Given the description of an element on the screen output the (x, y) to click on. 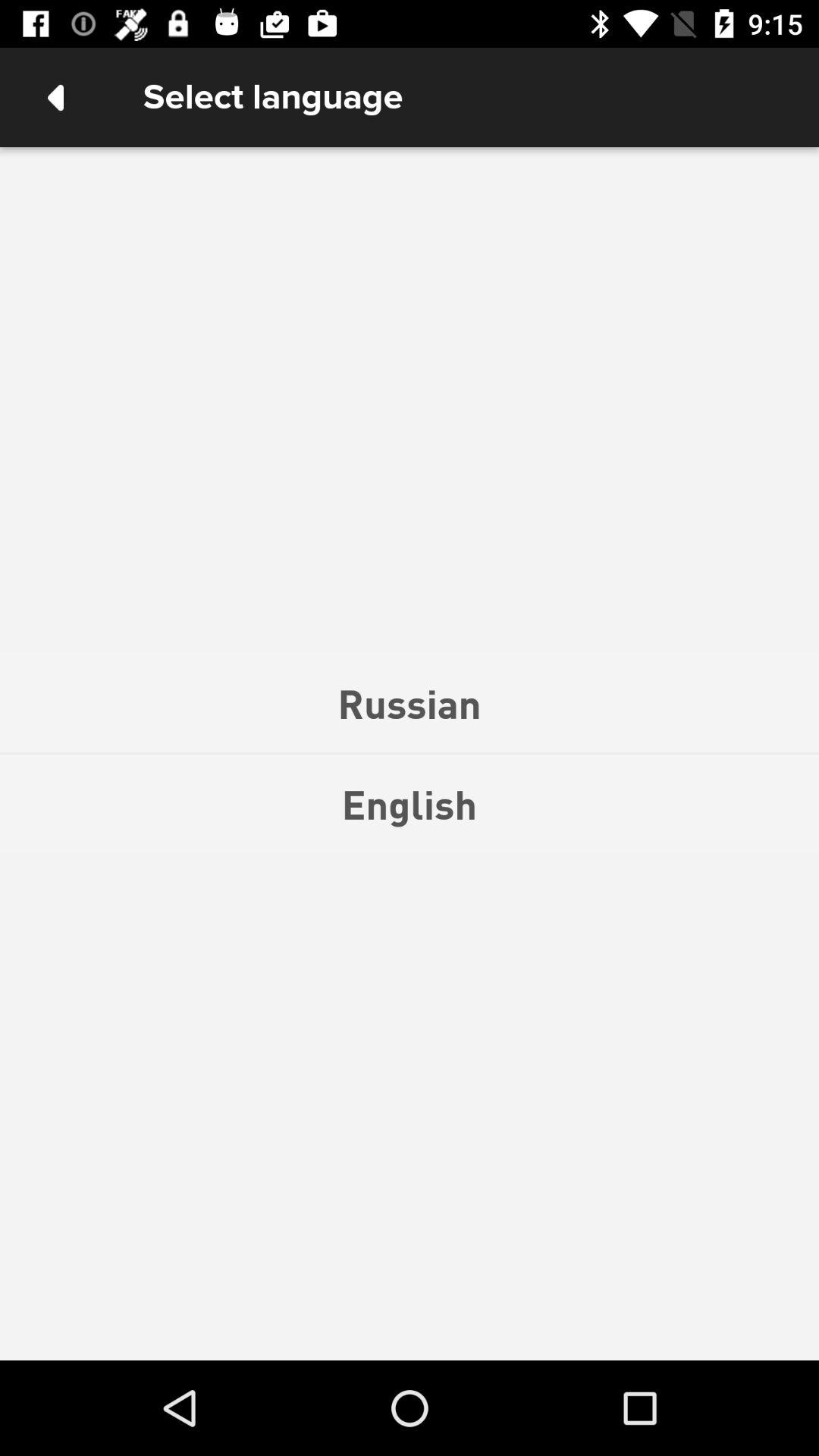
scroll to russian icon (409, 703)
